Given the description of an element on the screen output the (x, y) to click on. 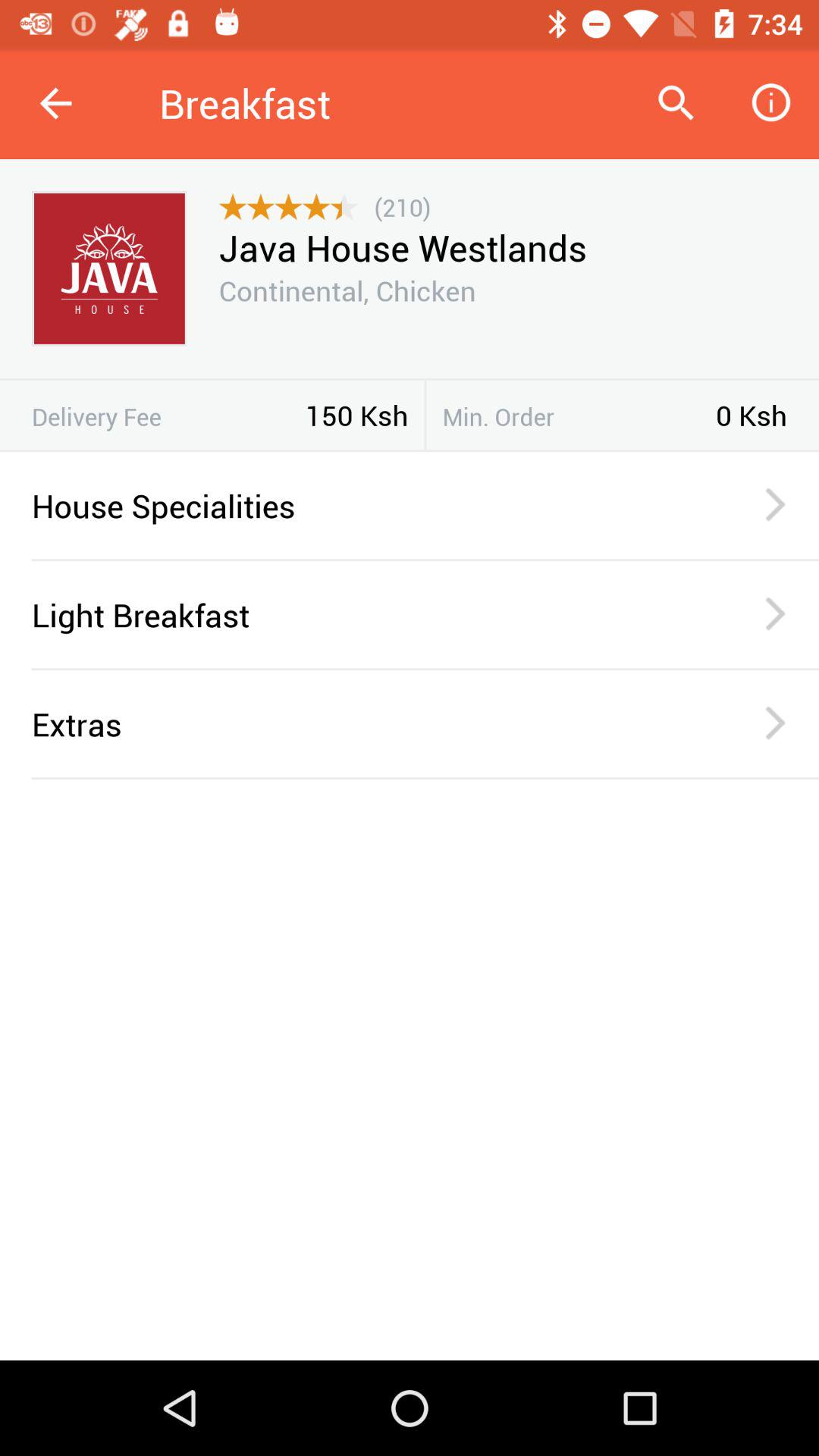
turn on the house specialities item (365, 505)
